Given the description of an element on the screen output the (x, y) to click on. 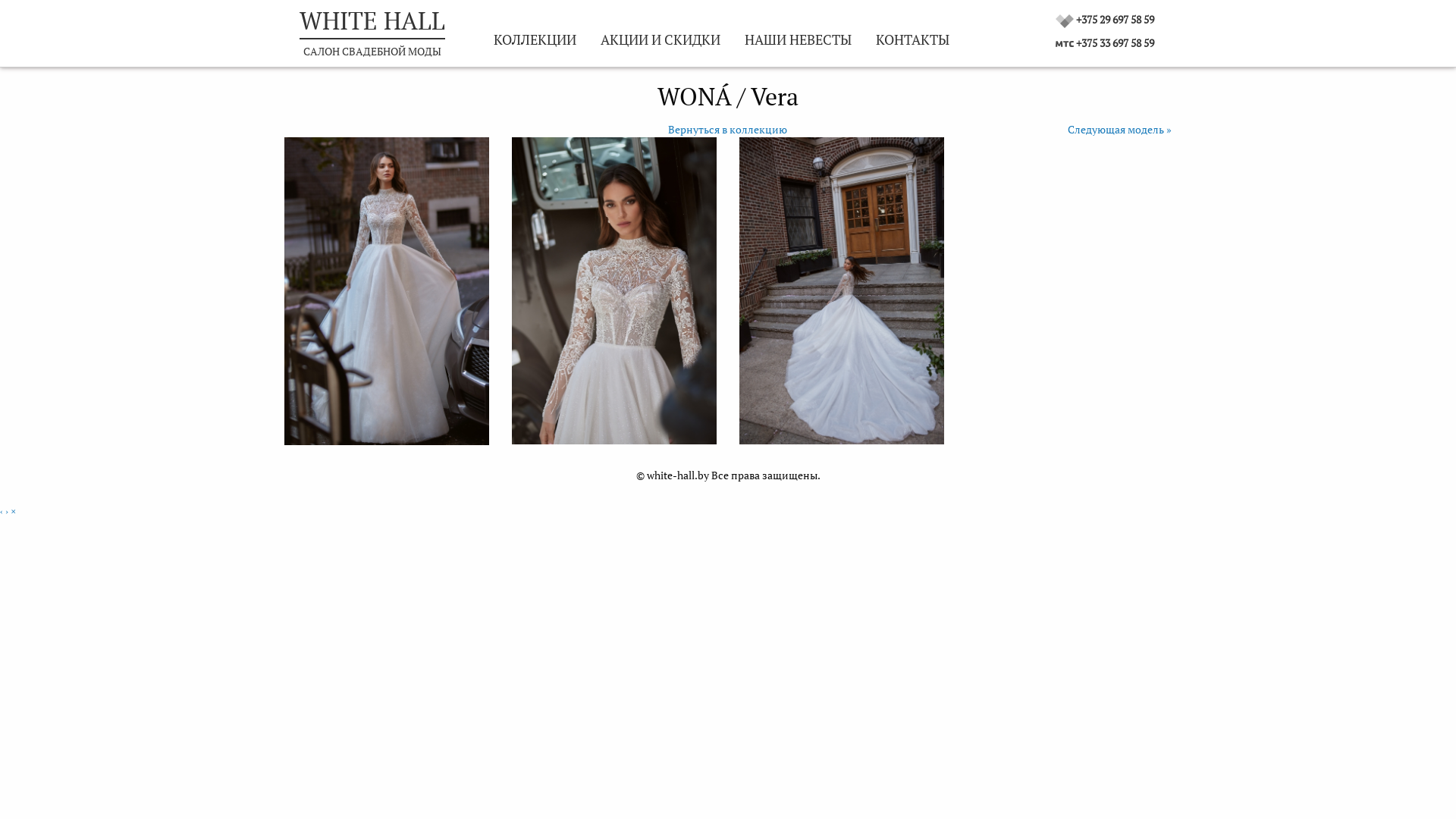
+375 33 697 58 59 Element type: text (1115, 41)
Vera Element type: hover (841, 290)
Vera Element type: hover (386, 291)
Vera Element type: hover (613, 290)
+375 29 697 58 59 Element type: text (1115, 19)
